Given the description of an element on the screen output the (x, y) to click on. 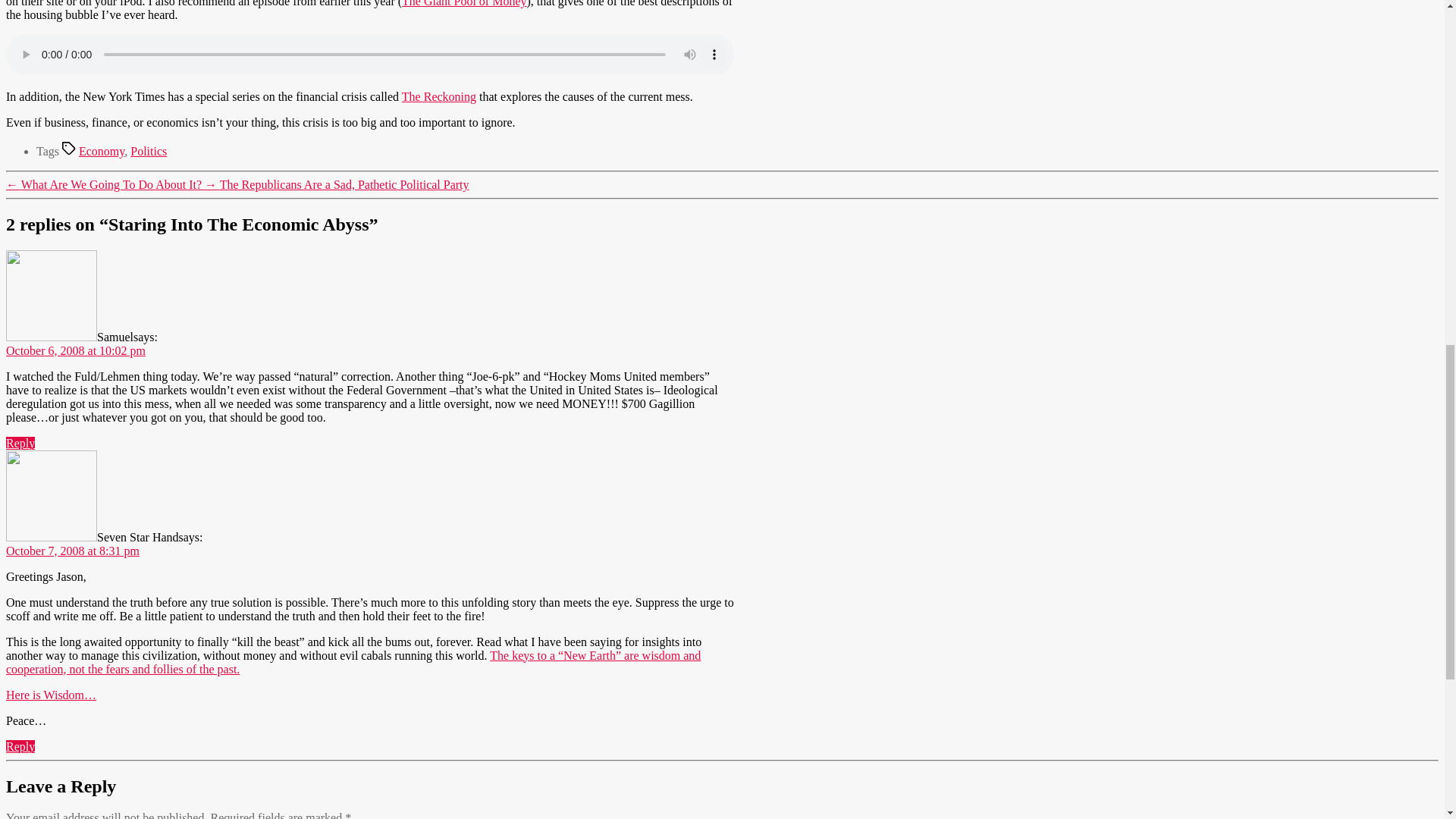
Reply (19, 442)
The Giant Pool of Money (463, 3)
Reply (19, 746)
Reply (19, 442)
October 7, 2008 at 8:31 pm (72, 550)
Reply (19, 746)
October 6, 2008 at 10:02 pm (75, 350)
Economy (100, 151)
Politics (149, 151)
The Reckoning (438, 96)
